Given the description of an element on the screen output the (x, y) to click on. 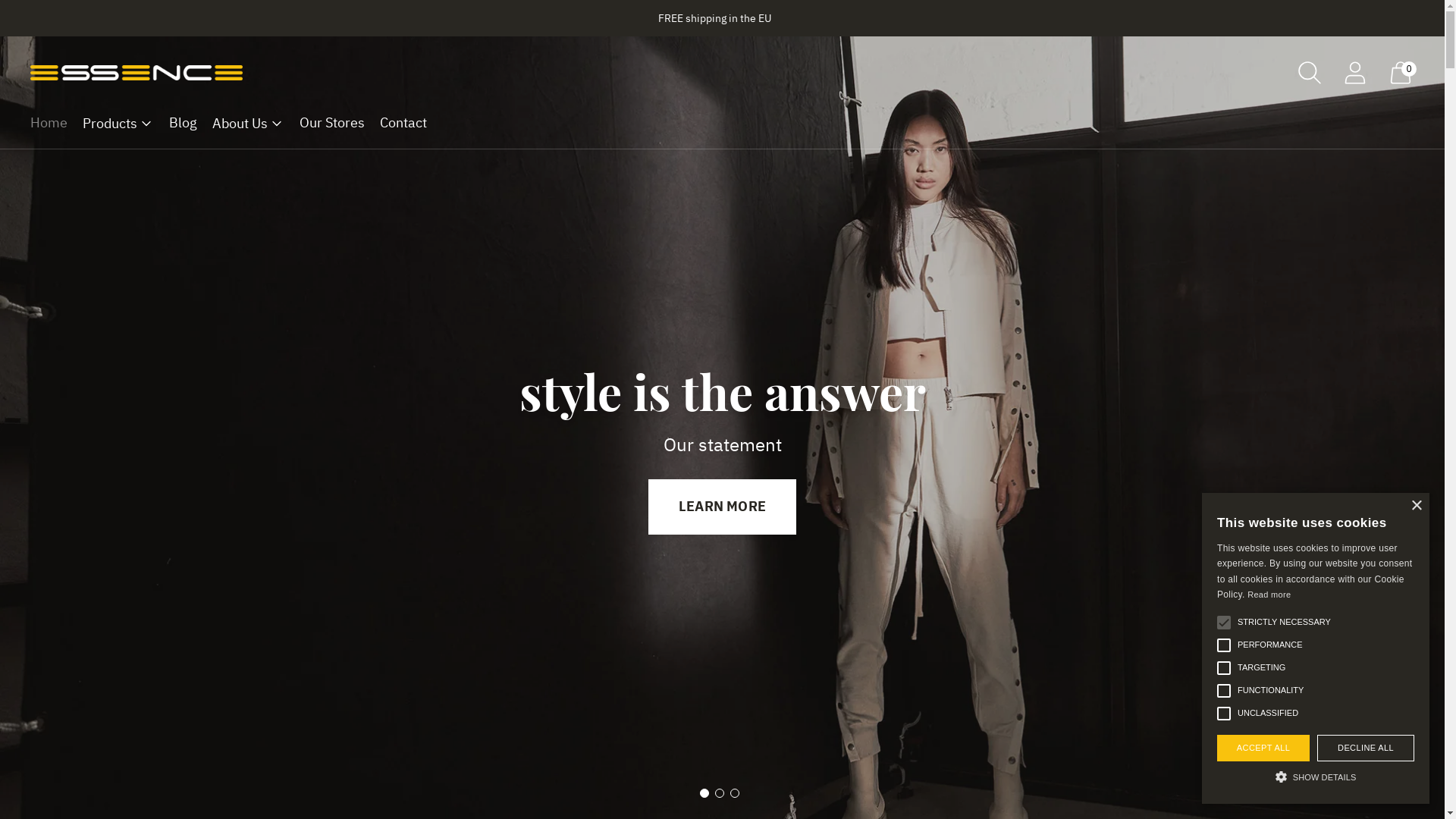
About Us Element type: text (248, 122)
Read more Element type: text (1268, 594)
Contact Element type: text (402, 122)
FOLLOW US ON INSTAGRAM Element type: text (721, 506)
Products Element type: text (117, 122)
Our Stores Element type: text (331, 122)
0 Element type: text (1400, 72)
Blog Element type: text (183, 122)
Home Element type: text (48, 122)
